Given the description of an element on the screen output the (x, y) to click on. 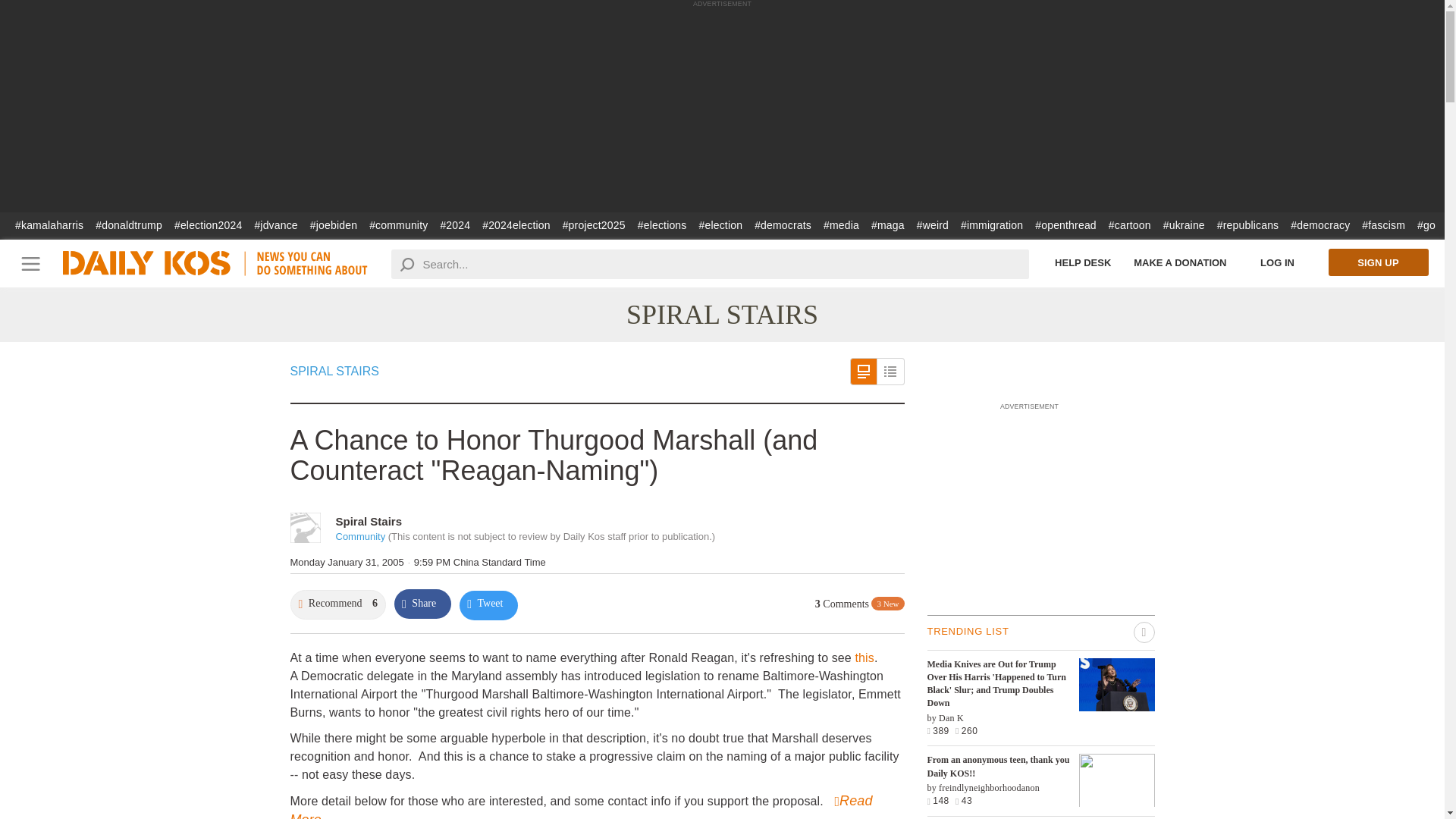
Help Desk (1082, 262)
MAKE A DONATION (1179, 262)
3 Comments 3 New (859, 603)
Make a Donation (1179, 262)
